Given the description of an element on the screen output the (x, y) to click on. 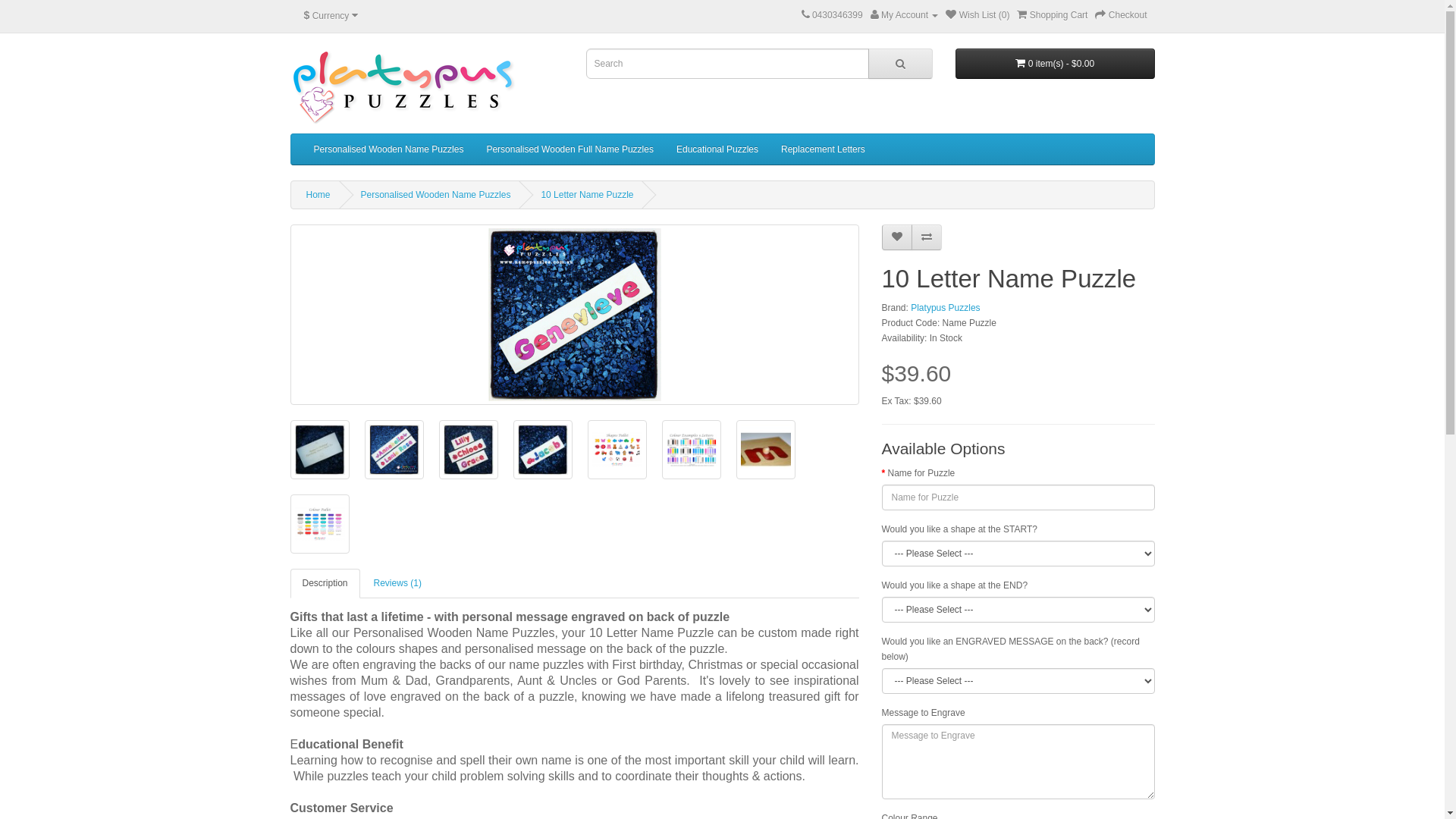
Personalised Wooden Name Puzzles Element type: text (387, 149)
0 item(s) - $0.00 Element type: text (1054, 63)
10 Letter Name Puzzle Personalised Wooden Name Puzzles Element type: hover (319, 449)
10 Letter Name Puzzle Personalised Wooden Name Puzzles Element type: hover (319, 523)
10 Letter Name Puzzle Personalised Wooden Name Puzzles Element type: hover (542, 449)
Checkout Element type: text (1120, 14)
Shopping Cart Element type: text (1051, 14)
Educational Puzzles Element type: text (717, 149)
10 Letter Name Puzzle Personalised Wooden Name Puzzles Element type: hover (765, 449)
Reviews (1) Element type: text (397, 583)
10 Letter Name Puzzle Personalised Wooden Name Puzzles Element type: hover (574, 314)
Home Element type: text (318, 194)
10 Letter Name Puzzle Personalised Wooden Name Puzzles Element type: hover (318, 523)
Description Element type: text (324, 583)
10 Letter Name Puzzle Personalised Wooden Name Puzzles Element type: hover (764, 449)
My Account Element type: text (904, 14)
Compare this Product Element type: hover (926, 237)
10 Letter Name Puzzle Personalised Wooden Name Puzzles Element type: hover (541, 449)
Wish List (0) Element type: text (977, 14)
10 Letter Name Puzzle Personalised Wooden Name Puzzles Element type: hover (318, 449)
10 Letter Name Puzzle Personalised Wooden Name Puzzles Element type: hover (467, 449)
Platypus Puzzles Element type: text (944, 307)
10 Letter Name Puzzle Personalised Wooden Name Puzzles Element type: hover (393, 449)
Replacement Letters Element type: text (822, 149)
Name Puzzles Australia Element type: hover (403, 86)
10 Letter Name Puzzle Personalised Wooden Name Puzzles Element type: hover (573, 314)
10 Letter Name Puzzle Personalised Wooden Name Puzzles Element type: hover (616, 449)
10 Letter Name Puzzle Personalised Wooden Name Puzzles Element type: hover (467, 449)
10 Letter Name Puzzle Personalised Wooden Name Puzzles Element type: hover (690, 449)
$ Currency Element type: text (330, 15)
Personalised Wooden Name Puzzles Element type: text (435, 194)
Add to Wish List Element type: hover (896, 237)
Personalised Wooden Full Name Puzzles Element type: text (569, 149)
10 Letter Name Puzzle Personalised Wooden Name Puzzles Element type: hover (616, 449)
10 Letter Name Puzzle Personalised Wooden Name Puzzles Element type: hover (690, 449)
10 Letter Name Puzzle Element type: text (586, 194)
10 Letter Name Puzzle Personalised Wooden Name Puzzles Element type: hover (393, 449)
